Given the description of an element on the screen output the (x, y) to click on. 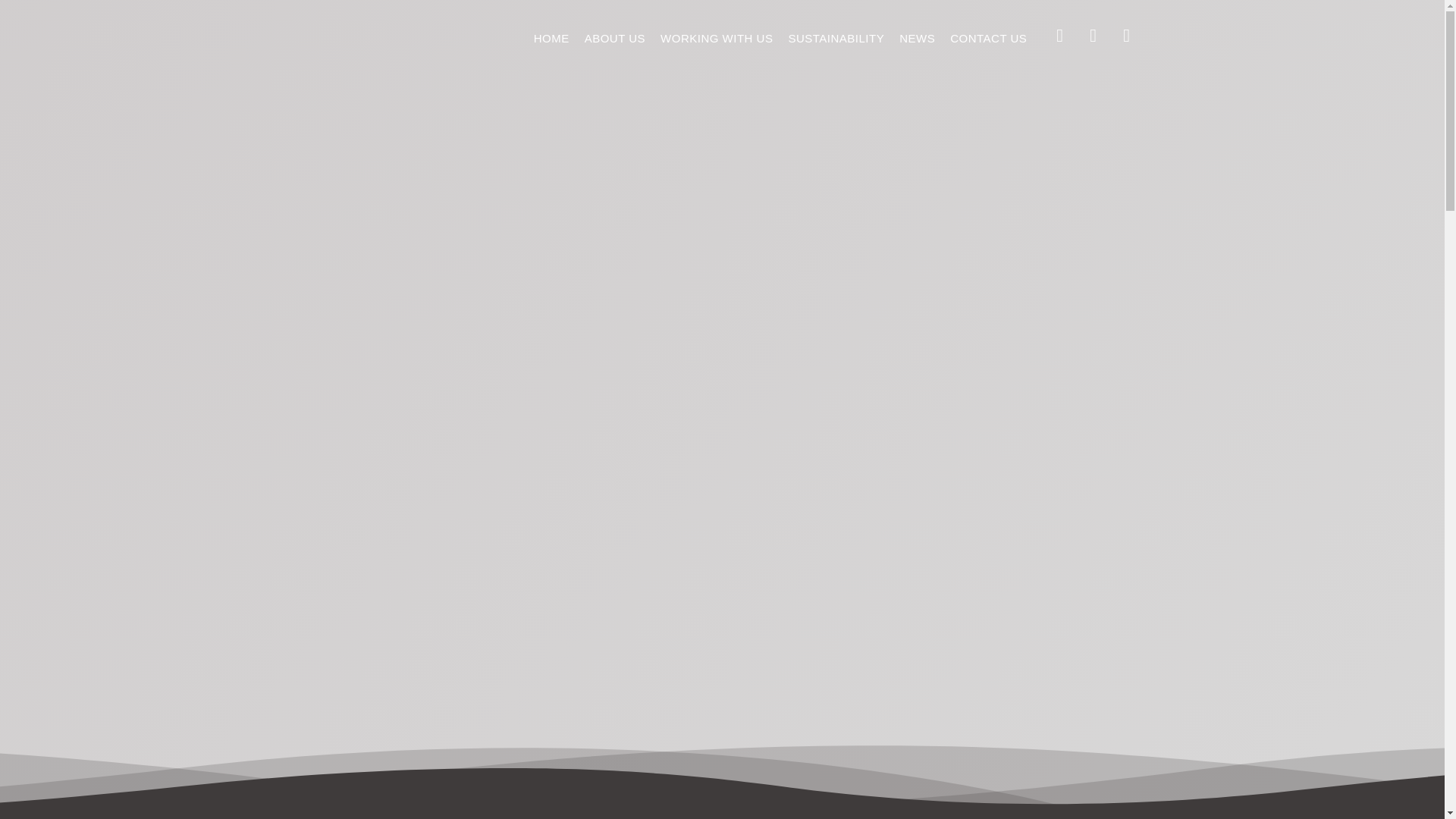
WORKING WITH US (716, 37)
NEWS (916, 37)
CONTACT US (987, 37)
ABOUT US (614, 37)
HOME (550, 37)
SUSTAINABILITY (835, 37)
